Given the description of an element on the screen output the (x, y) to click on. 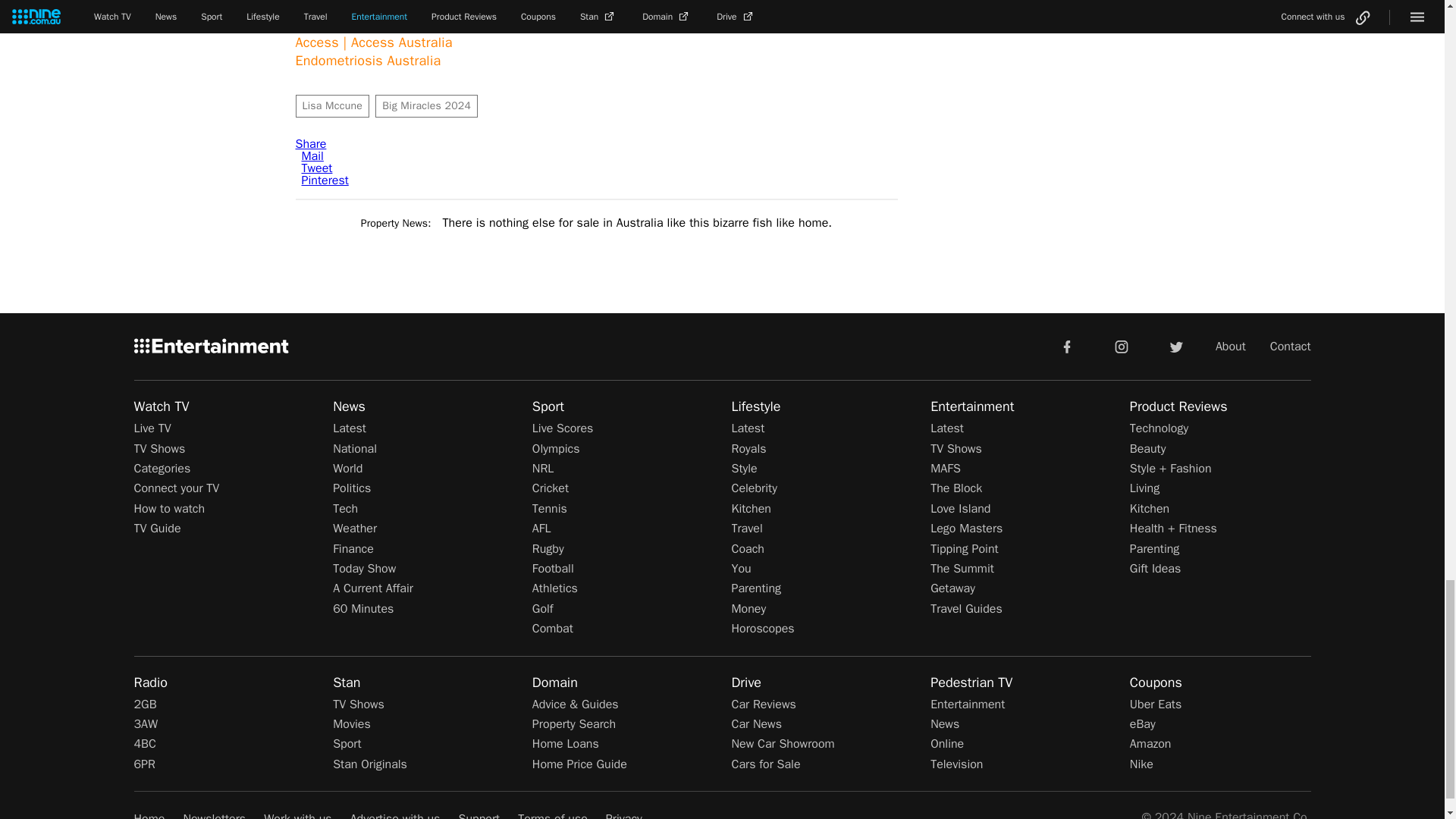
Lisa Mccune (332, 106)
Pinterest (325, 180)
twitter (1175, 345)
Share (310, 143)
Big Miracles 2024 (426, 106)
About (1230, 346)
Tweet (317, 168)
Endometriosis Australia (368, 60)
The Pink Elephants Support Network - Home (431, 23)
